Given the description of an element on the screen output the (x, y) to click on. 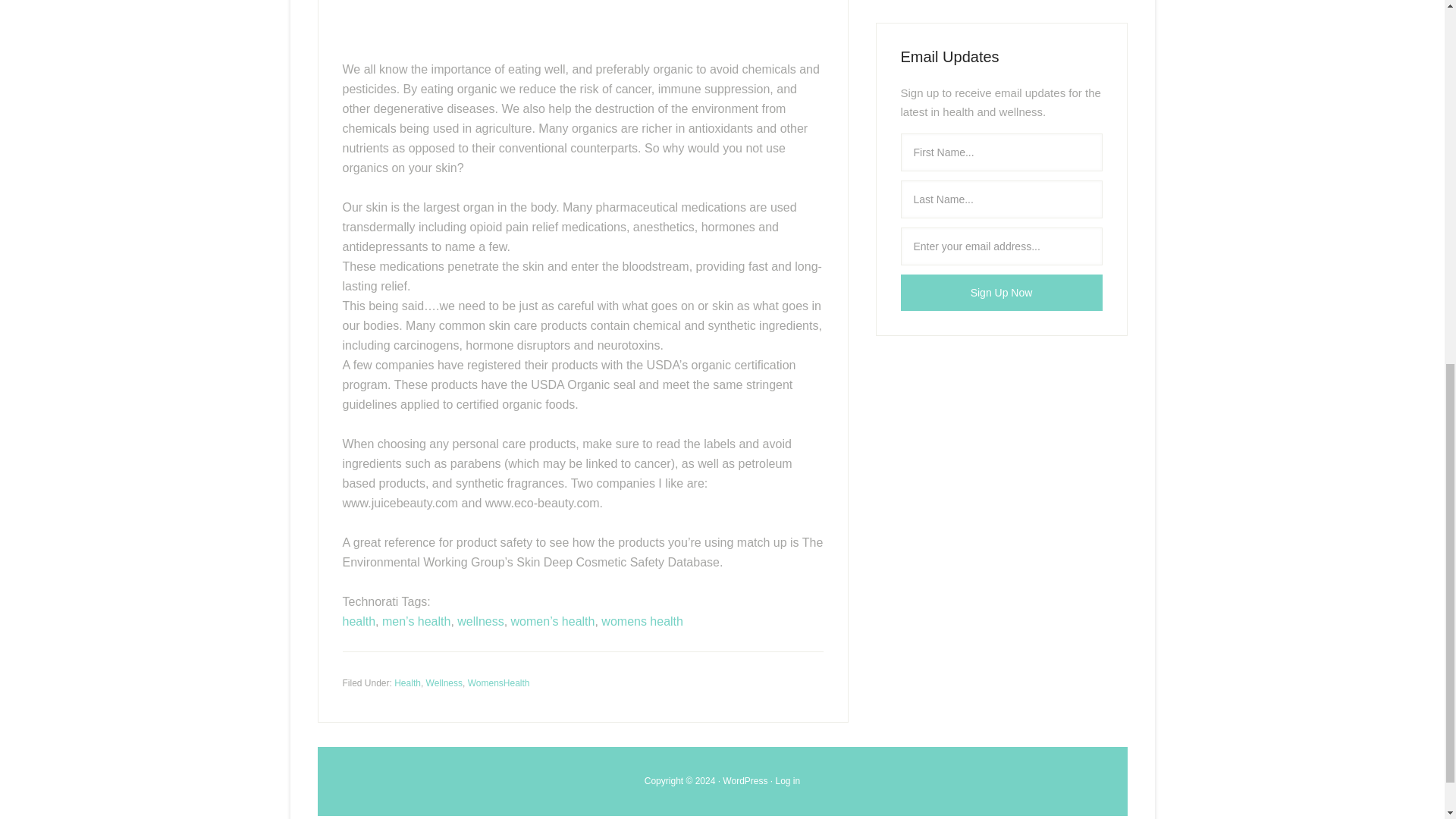
Wellness (444, 683)
Sign Up Now (1001, 292)
Health (407, 683)
wellness (480, 621)
health (358, 621)
womens health (641, 621)
Sign Up Now (1001, 292)
WomensHealth (498, 683)
WordPress (744, 779)
Log in (788, 779)
